Given the description of an element on the screen output the (x, y) to click on. 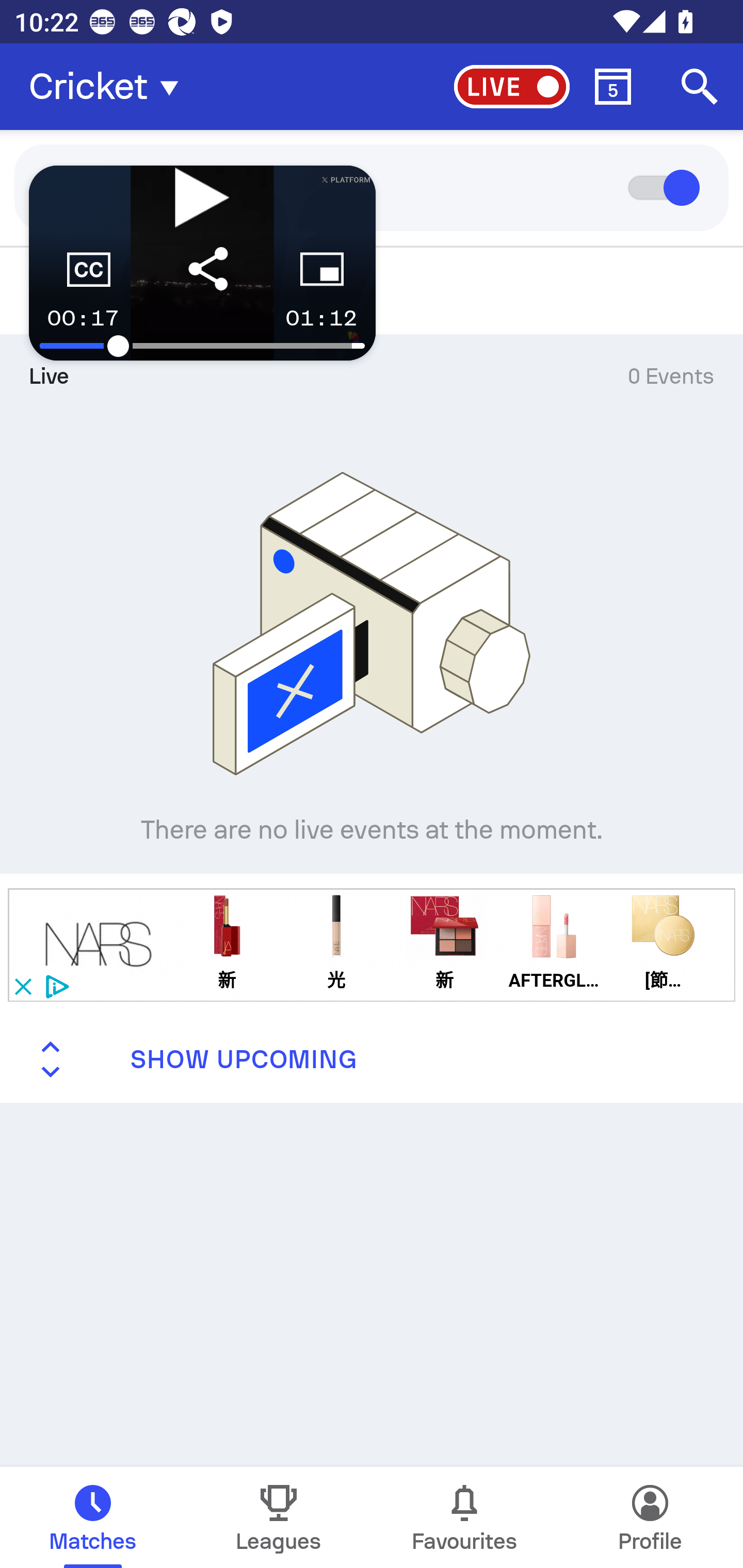
Cricket (109, 86)
Calendar (612, 86)
Search (699, 86)
   (98, 944)
 新 新 (234, 944)
 光 光 (336, 944)
 新 新年限量… (443, 944)
 AFTERGL… AFTERGL… (552, 944)
 [節… [節… (661, 944)
close_button (21, 985)
privacy_small (54, 985)
SHOW UPCOMING (371, 1059)
Leagues (278, 1517)
Favourites (464, 1517)
Profile (650, 1517)
